Given the description of an element on the screen output the (x, y) to click on. 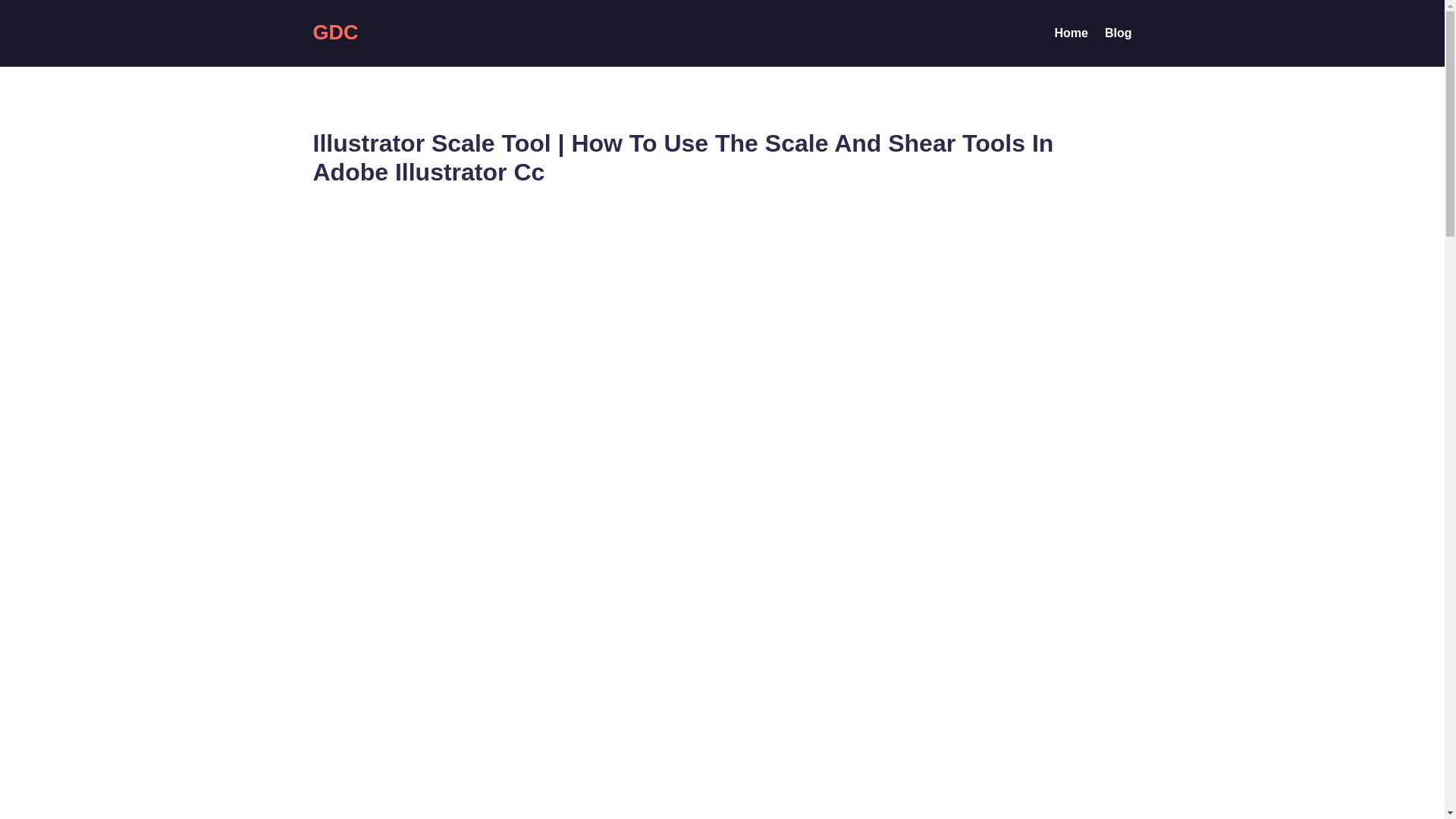
Home (1070, 36)
Blog (1118, 36)
